Given the description of an element on the screen output the (x, y) to click on. 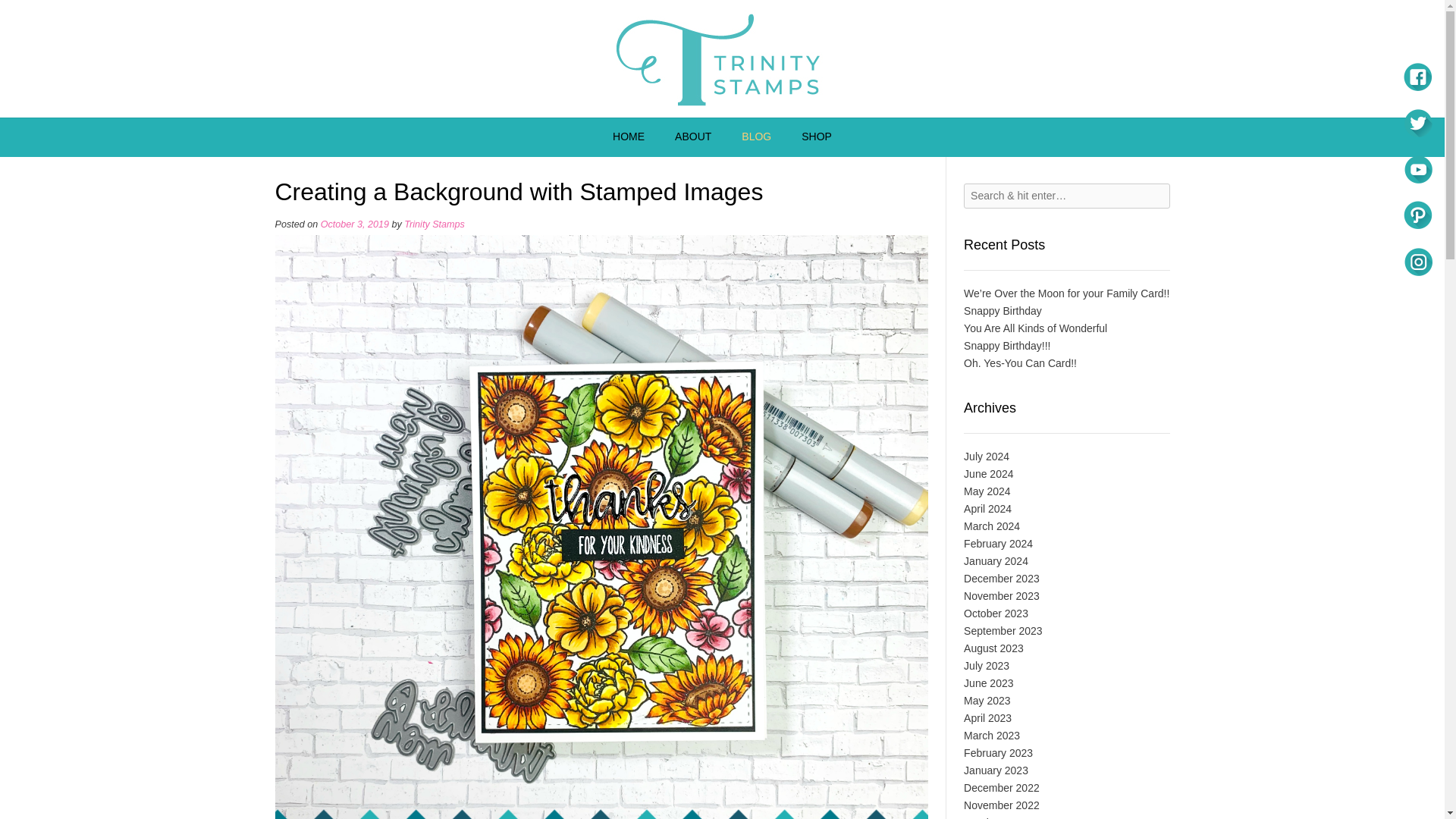
September 2023 (1002, 630)
Trinity Stamps (721, 58)
ABOUT (692, 137)
April 2023 (987, 717)
June 2023 (988, 683)
Facebook (1416, 76)
Search for: (1066, 195)
SHOP (816, 137)
October 3, 2019 (354, 224)
April 2024 (987, 508)
January 2024 (995, 561)
March 2023 (991, 735)
November 2023 (1001, 595)
HOME (627, 137)
